Given the description of an element on the screen output the (x, y) to click on. 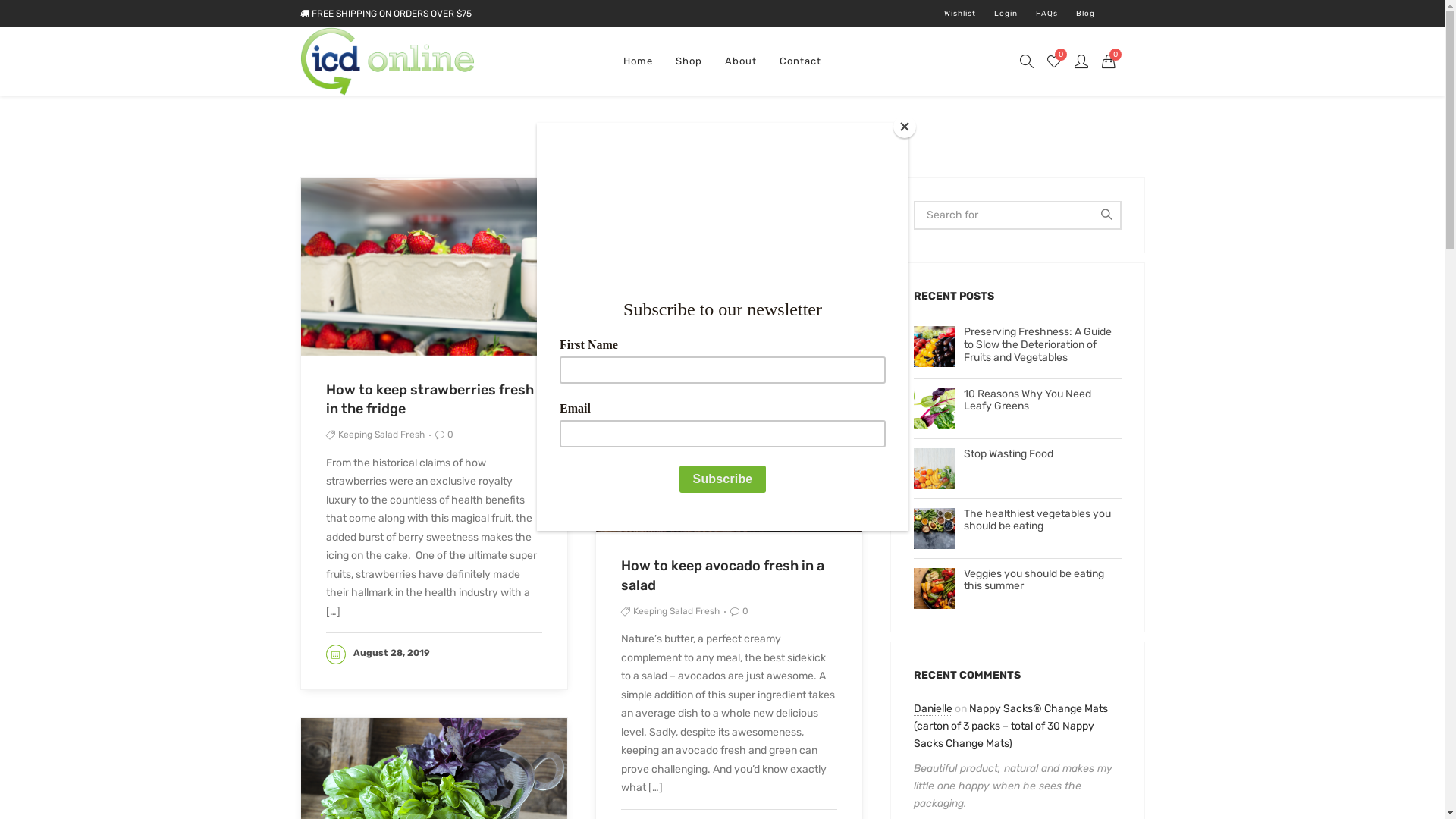
0 Element type: text (1053, 61)
Stop Wasting Food Element type: text (1016, 453)
The healthiest vegetables you should be eating Element type: text (1016, 520)
Login Element type: text (1004, 13)
Account Element type: hover (1081, 61)
Home Element type: text (637, 60)
0 Element type: text (1108, 61)
About Element type: text (740, 60)
FAQs Element type: text (1046, 13)
Blog Element type: text (1084, 13)
ICD Online Element type: hover (386, 61)
10 Reasons Why You Need Leafy Greens Element type: text (1016, 401)
Wishlist Element type: text (959, 13)
Contact Element type: text (800, 60)
How to keep avocado fresh in a salad
Keeping Salad Fresh
0 Element type: text (728, 587)
Shop Element type: text (688, 60)
Veggies you should be eating this summer Element type: text (1016, 580)
